Given the description of an element on the screen output the (x, y) to click on. 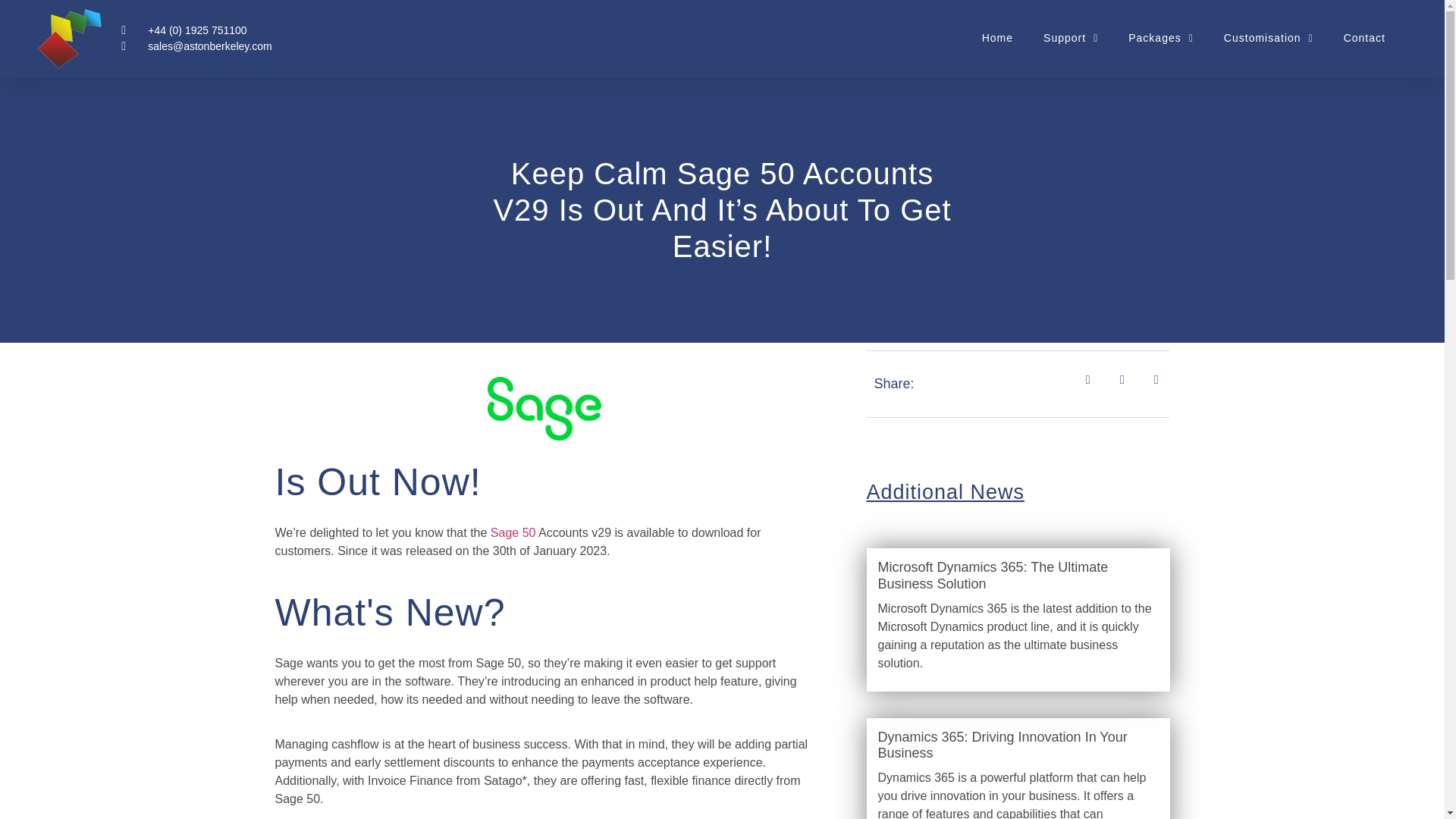
Contact (1363, 38)
Home (978, 46)
Customisation (1266, 38)
Support (1026, 45)
Packages (1147, 39)
